Given the description of an element on the screen output the (x, y) to click on. 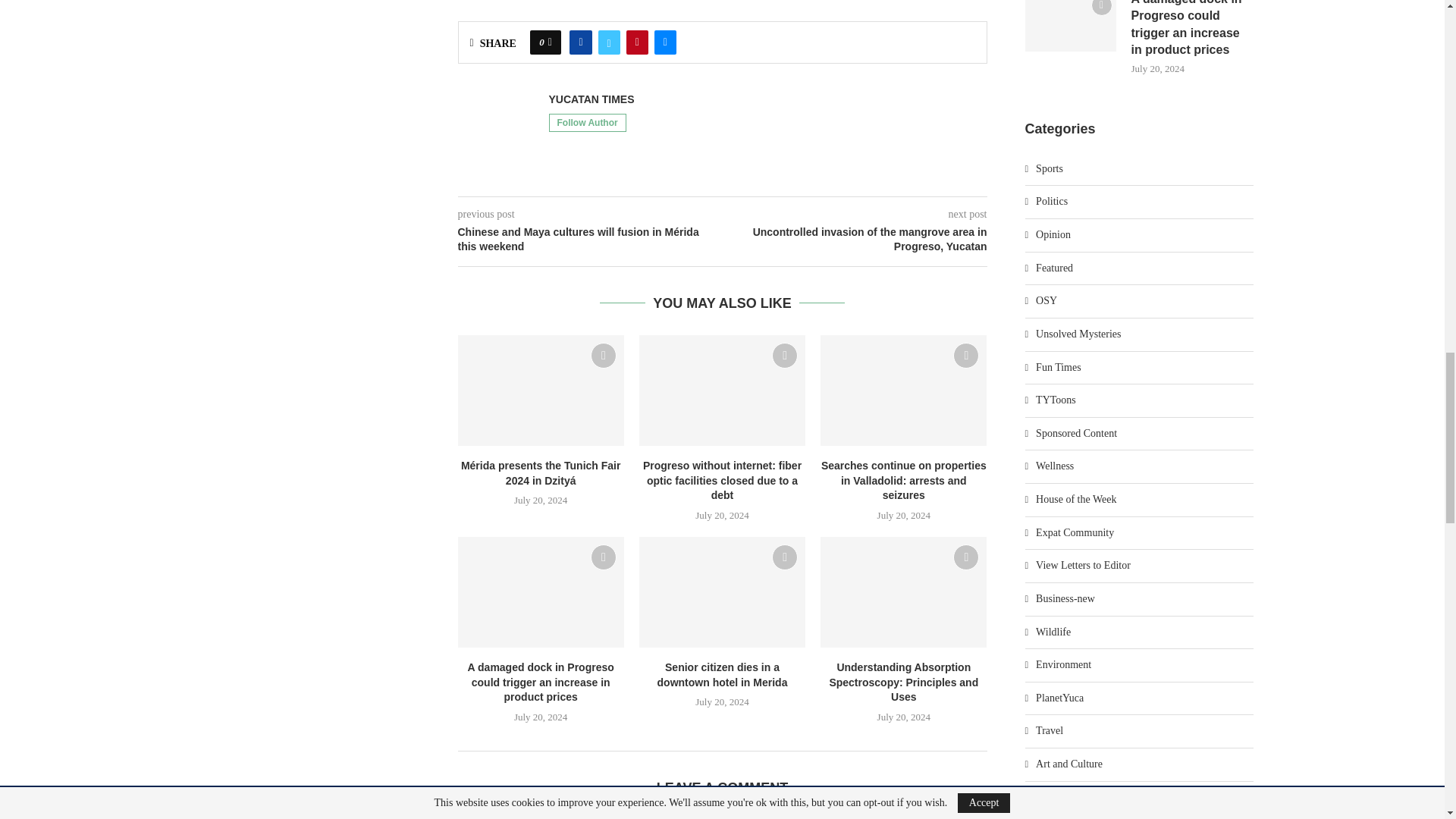
Author Yucatan Times (591, 99)
